Given the description of an element on the screen output the (x, y) to click on. 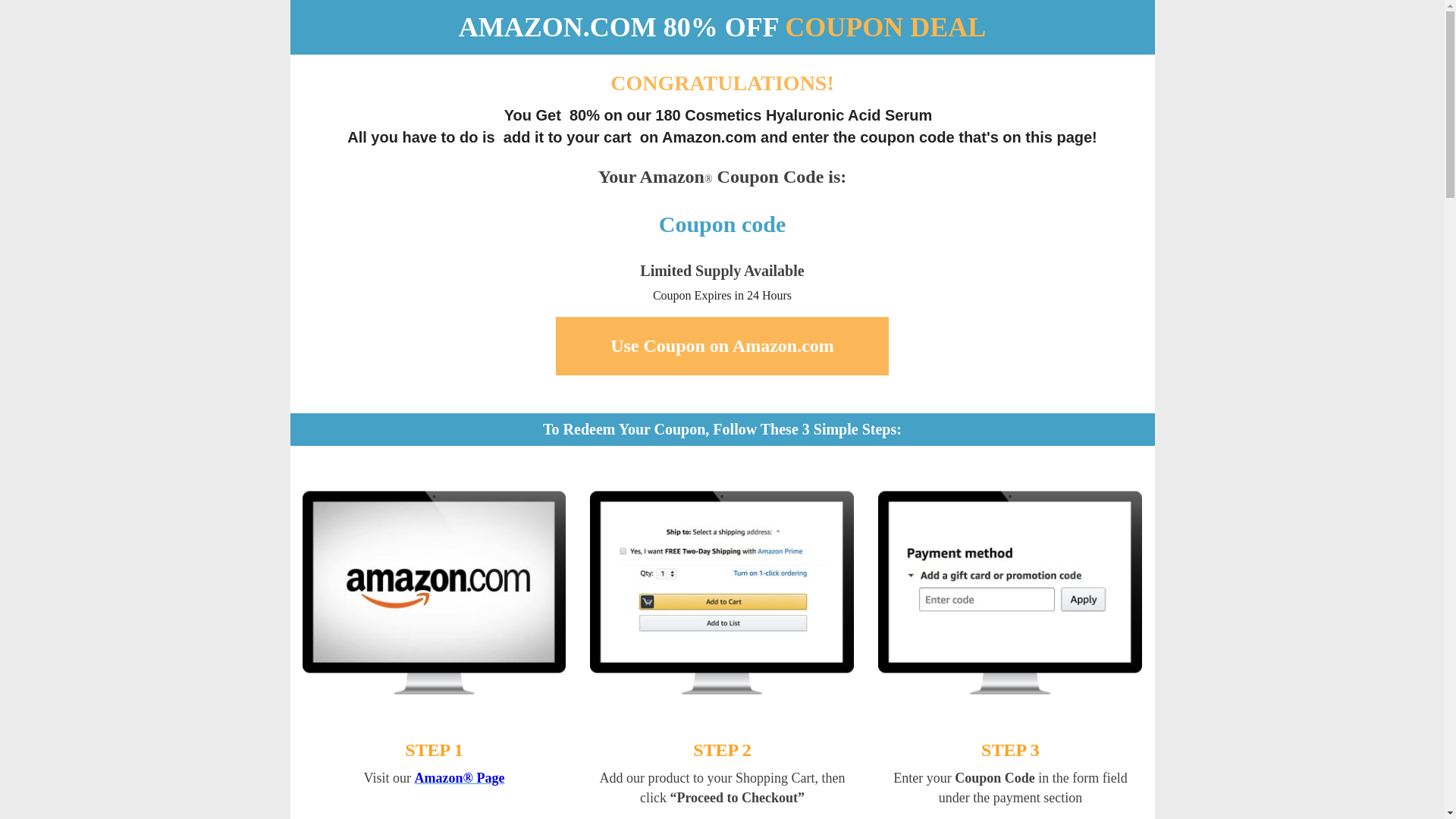
Use Coupon on Amazon.com Element type: text (721, 345)
